Given the description of an element on the screen output the (x, y) to click on. 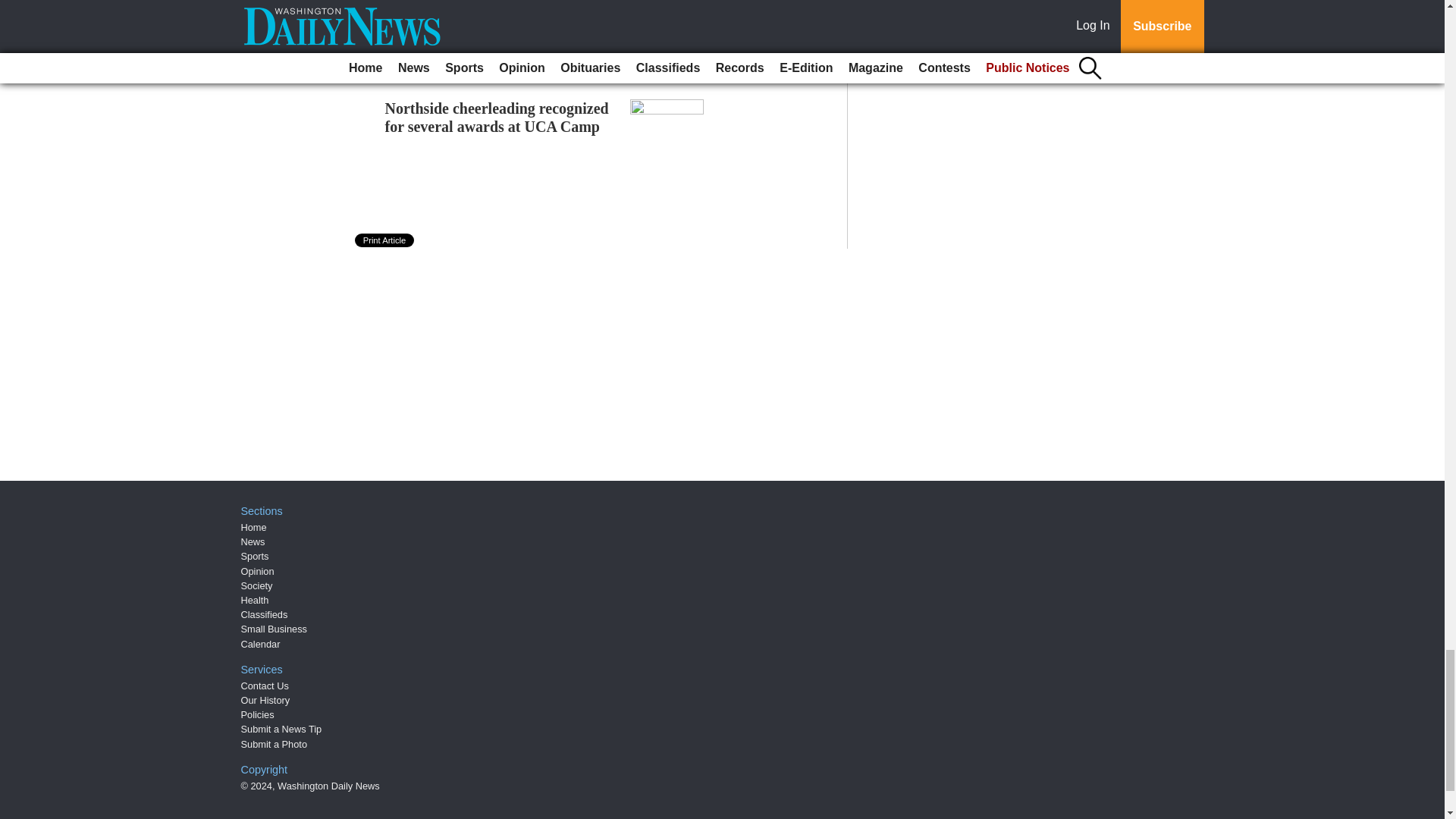
Print Article (384, 240)
News (252, 541)
Home (253, 527)
